Given the description of an element on the screen output the (x, y) to click on. 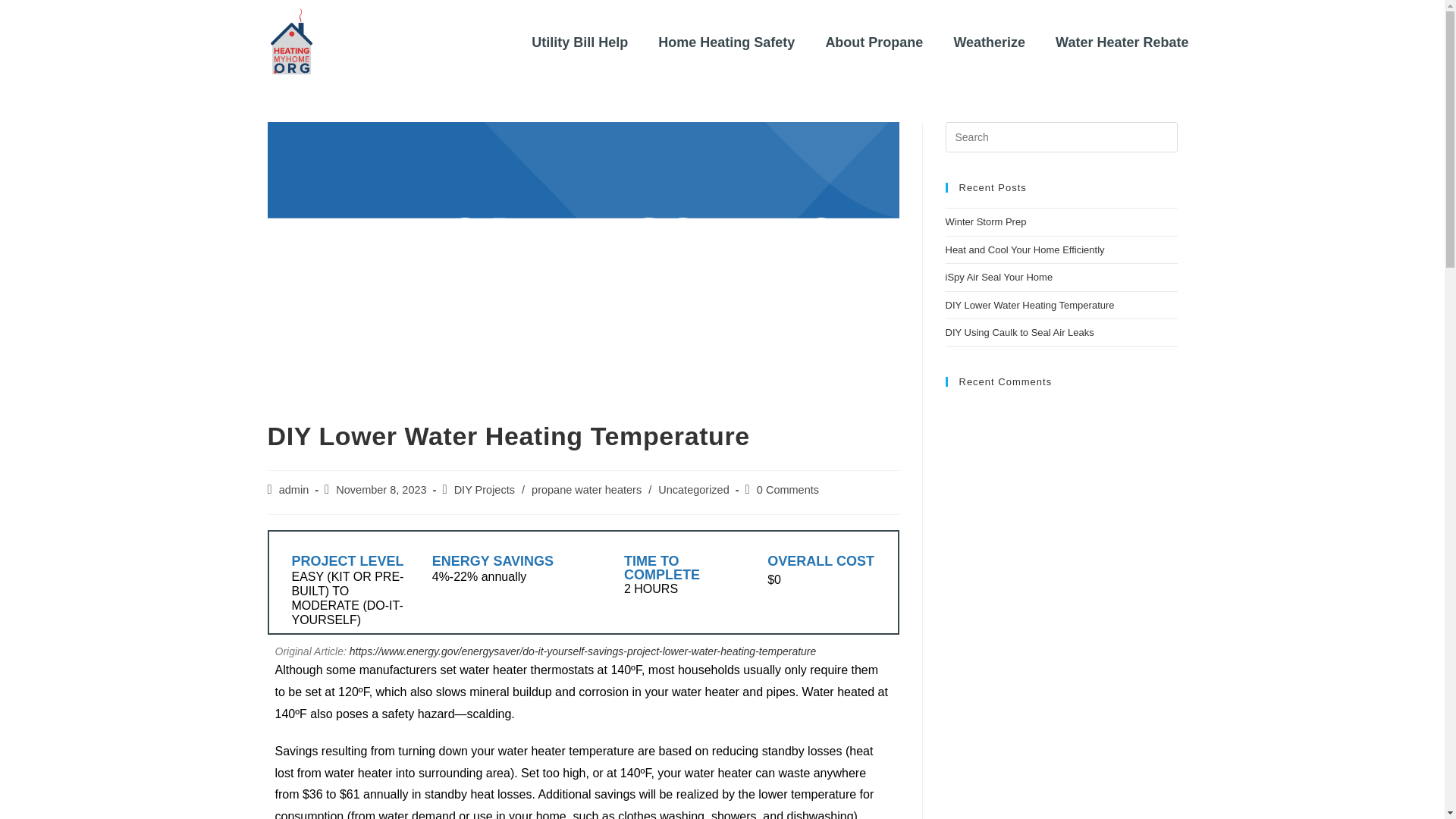
DIY Using Caulk to Seal Air Leaks (1018, 332)
About Propane (873, 42)
iSpy Air Seal Your Home (998, 276)
0 Comments (787, 490)
Heat and Cool Your Home Efficiently  (1025, 249)
Uncategorized (693, 490)
DIY Projects (484, 490)
Posts by admin (293, 490)
DIY Lower Water Heating Temperature (1028, 305)
Home Heating Safety (726, 42)
